Given the description of an element on the screen output the (x, y) to click on. 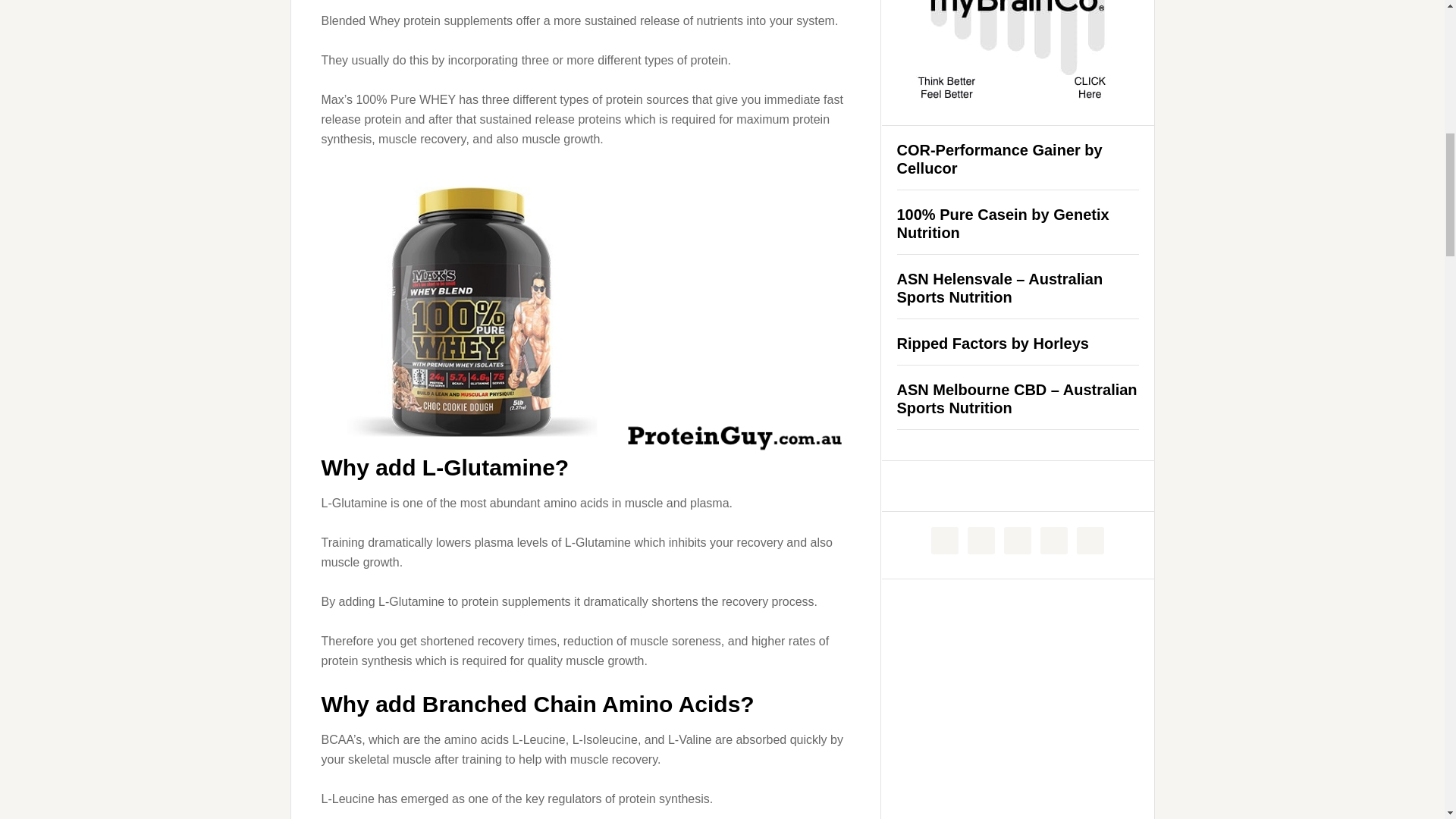
COR-Performance Gainer by Cellucor (999, 158)
